Given the description of an element on the screen output the (x, y) to click on. 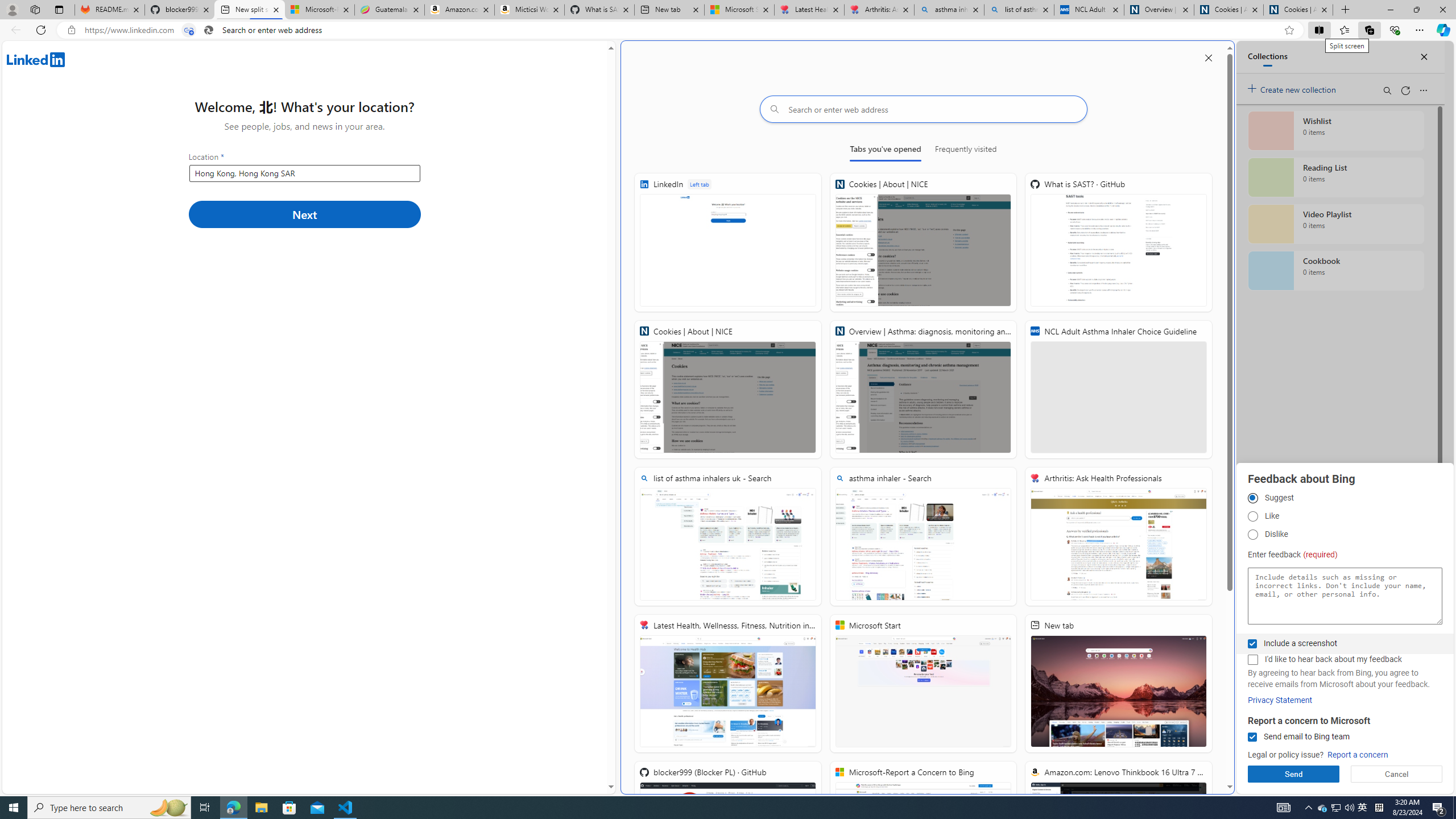
Search or enter web address (922, 108)
Cookies | About | NICE (727, 389)
